Given the description of an element on the screen output the (x, y) to click on. 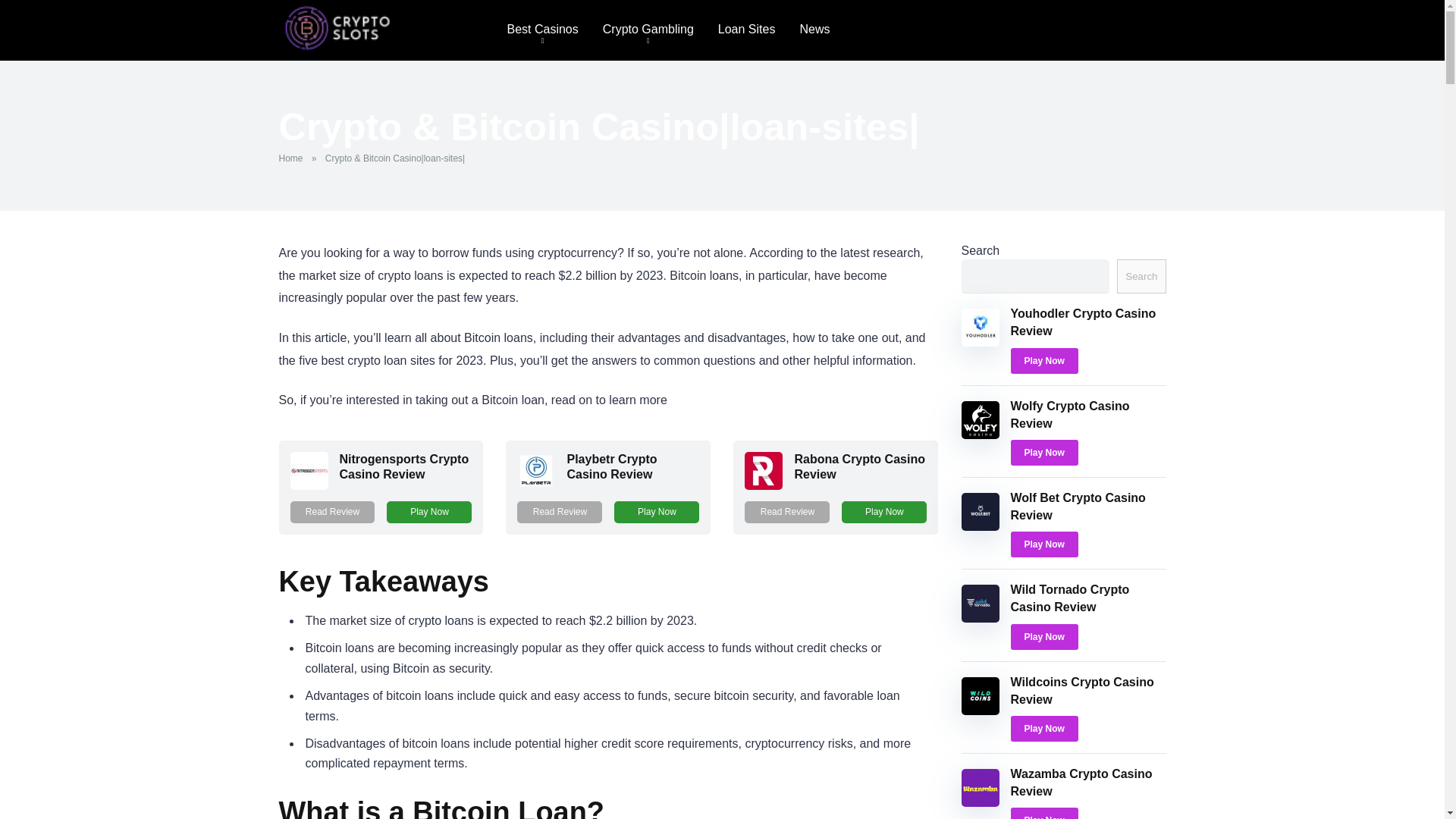
Read Review (331, 512)
Playbetr Crypto Casino Review (611, 466)
Play Now (1043, 452)
Crypto Gambling (648, 30)
News (814, 30)
Play Now (429, 512)
Search (1141, 276)
Home (293, 158)
Nitrogensports Crypto Casino Review (403, 466)
Play Now (1043, 360)
